Given the description of an element on the screen output the (x, y) to click on. 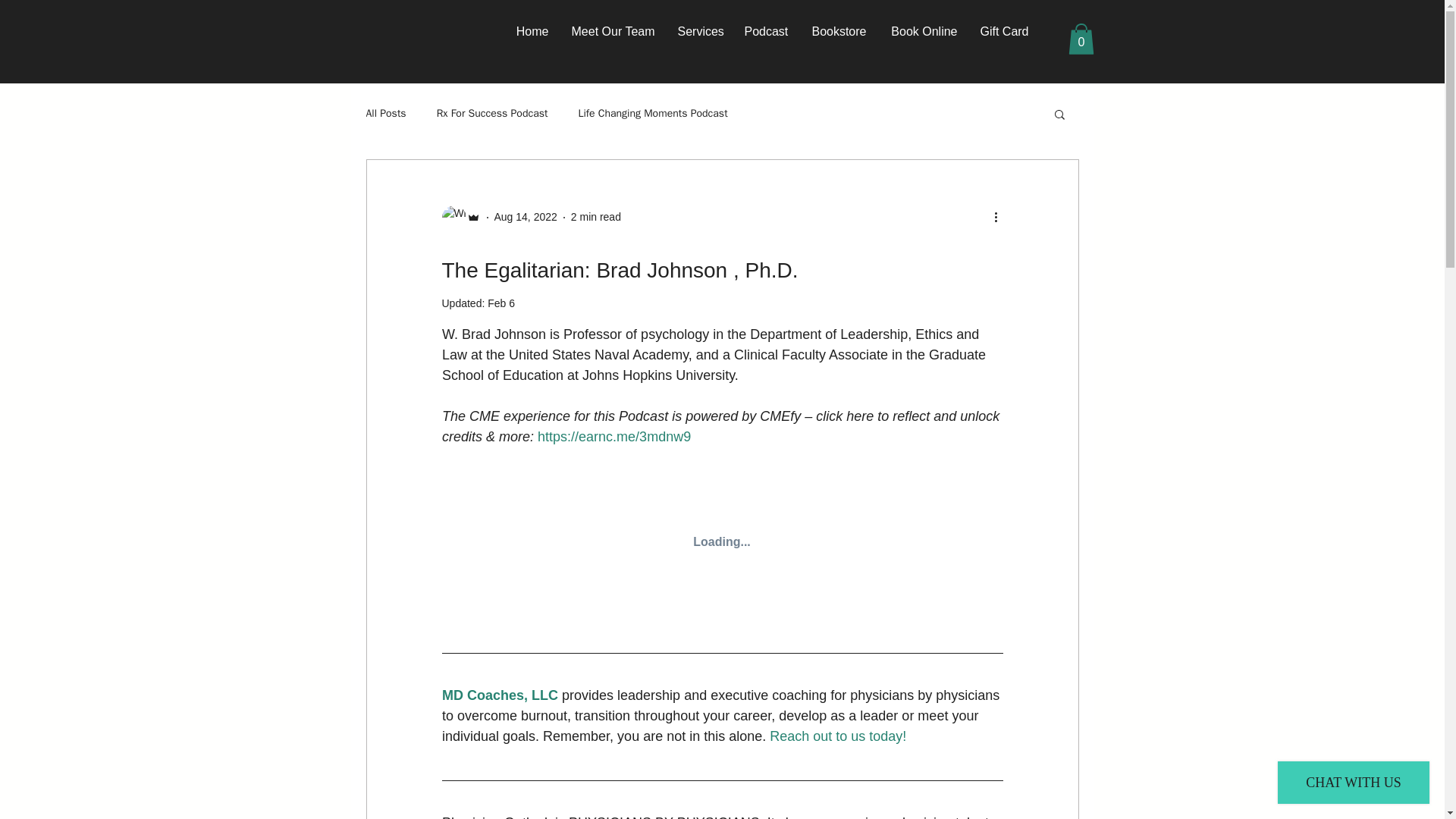
2 min read (595, 216)
Home (531, 31)
Aug 14, 2022 (526, 216)
Feb 6 (501, 303)
Reach out to us today! (837, 735)
Podcast (764, 31)
All Posts (385, 113)
Rx For Success Podcast (492, 113)
Services (698, 31)
Meet Our Team (612, 31)
remote content (722, 543)
Bookstore (838, 31)
Gift Card (1005, 31)
Life Changing Moments Podcast (652, 113)
Book Online (923, 31)
